Given the description of an element on the screen output the (x, y) to click on. 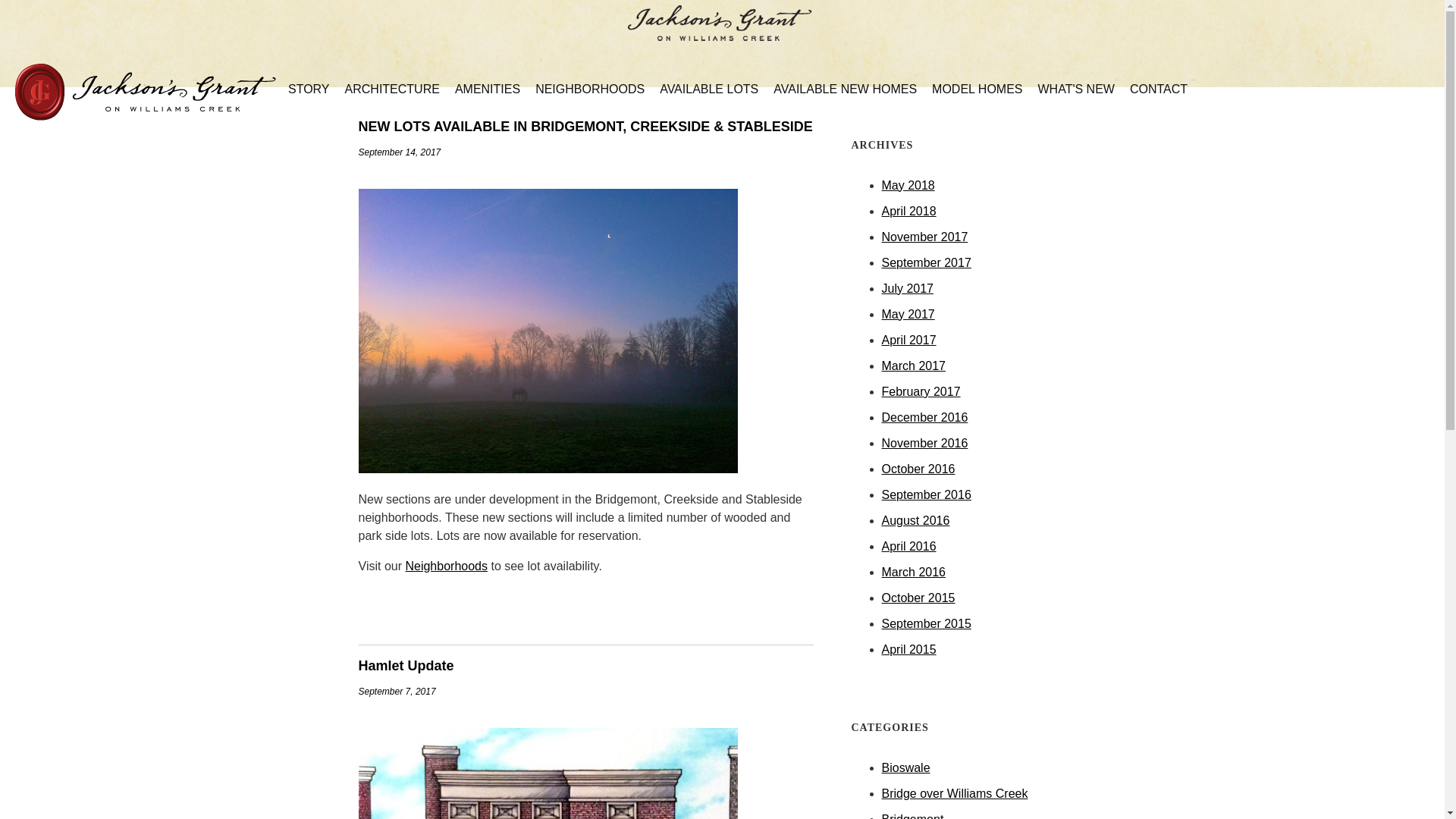
May 2017 (907, 314)
November 2017 (924, 236)
September 2016 (925, 494)
March 2017 (912, 365)
ARCHITECTURE (391, 89)
Bridge over Williams Creek (953, 793)
WHAT'S NEW (1075, 89)
Neighborhoods (445, 565)
November 2016 (924, 442)
July 2017 (906, 287)
March 2016 (912, 571)
December 2016 (924, 417)
February 2017 (919, 391)
NEIGHBORHOODS (589, 89)
AVAILABLE NEW HOMES (844, 89)
